Given the description of an element on the screen output the (x, y) to click on. 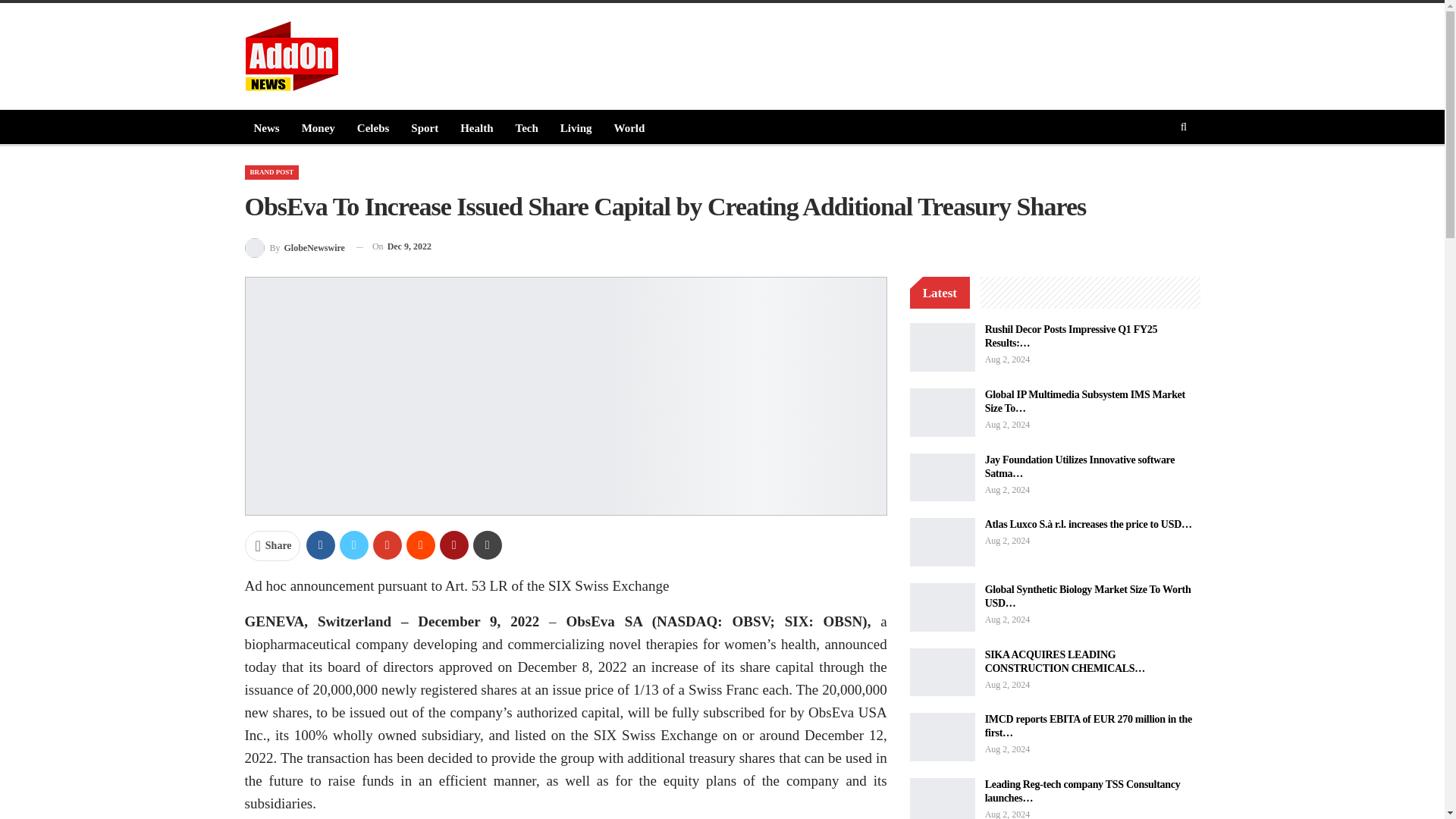
Health (476, 127)
By GlobeNewswire (293, 246)
World (629, 127)
Tech (526, 127)
Living (576, 127)
BRAND POST (271, 172)
Browse Author Articles (293, 246)
Sport (423, 127)
Money (317, 127)
News (266, 127)
